Given the description of an element on the screen output the (x, y) to click on. 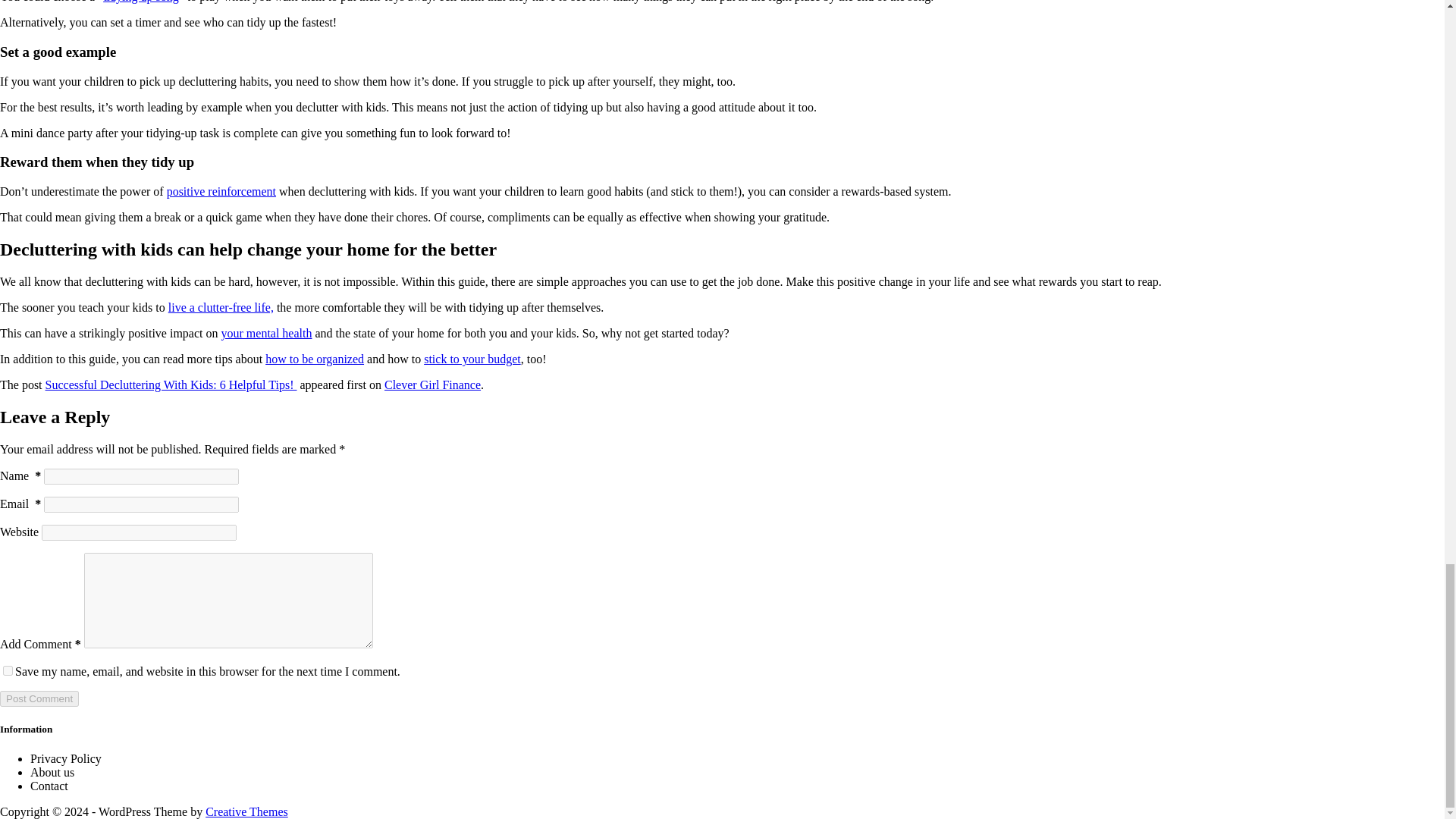
tidying up song (141, 1)
positive reinforcement (221, 191)
your mental health (267, 332)
Successful Decluttering With Kids: 6 Helpful Tips!  (171, 384)
Clever Girl Finance (432, 384)
yes (7, 670)
live a clutter-free life, (220, 307)
stick to your budget (472, 358)
how to be organized (314, 358)
